Given the description of an element on the screen output the (x, y) to click on. 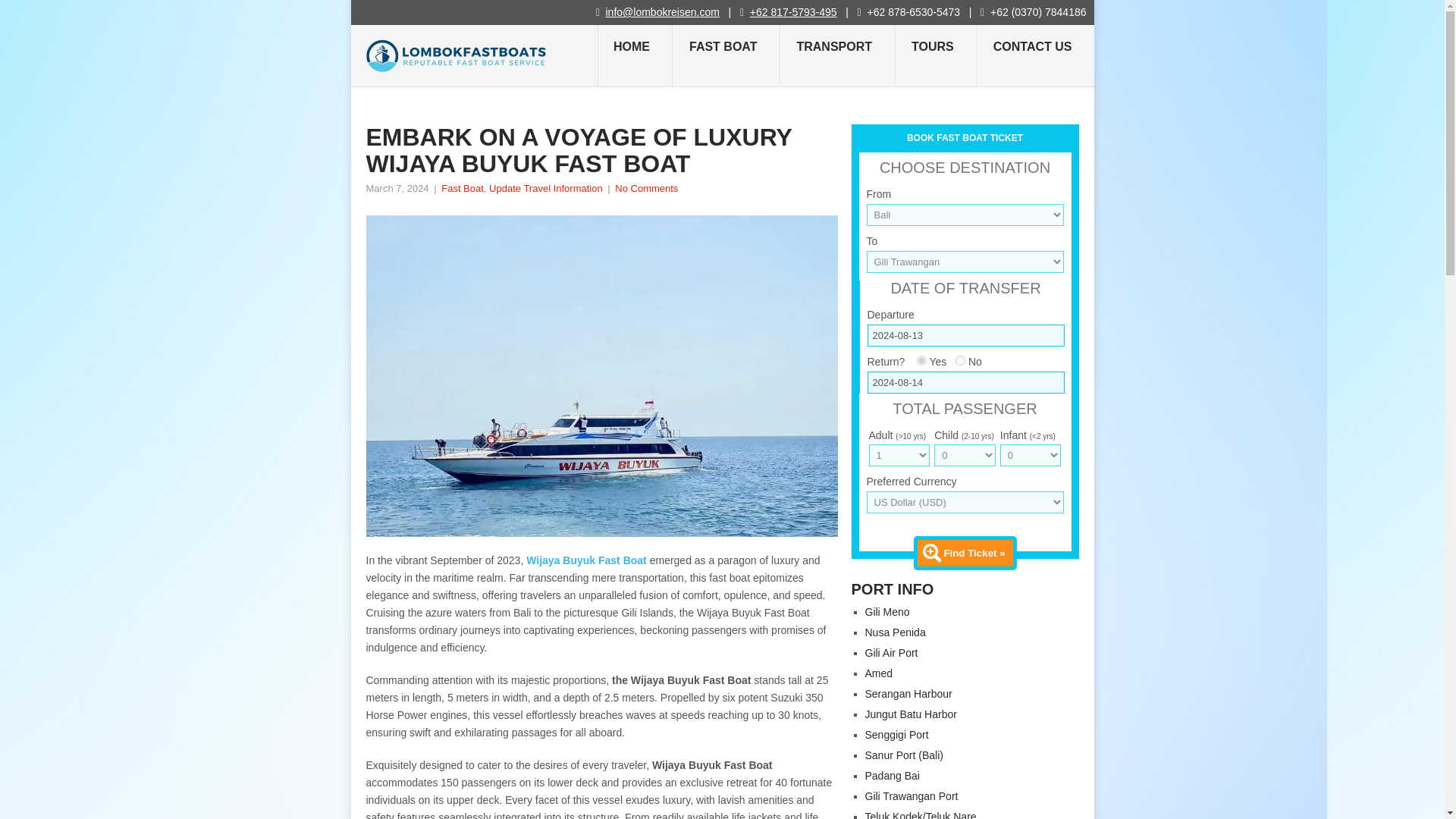
2024-08-14 (965, 382)
Update Travel Information (545, 188)
Senggigi Port (896, 734)
Wijaya Buyuk Fast Boat (585, 560)
Nusa Penida (894, 632)
Gili Meno (886, 612)
No Comments (646, 188)
TRANSPORT (837, 55)
FAST BOAT (726, 55)
return (921, 360)
